Given the description of an element on the screen output the (x, y) to click on. 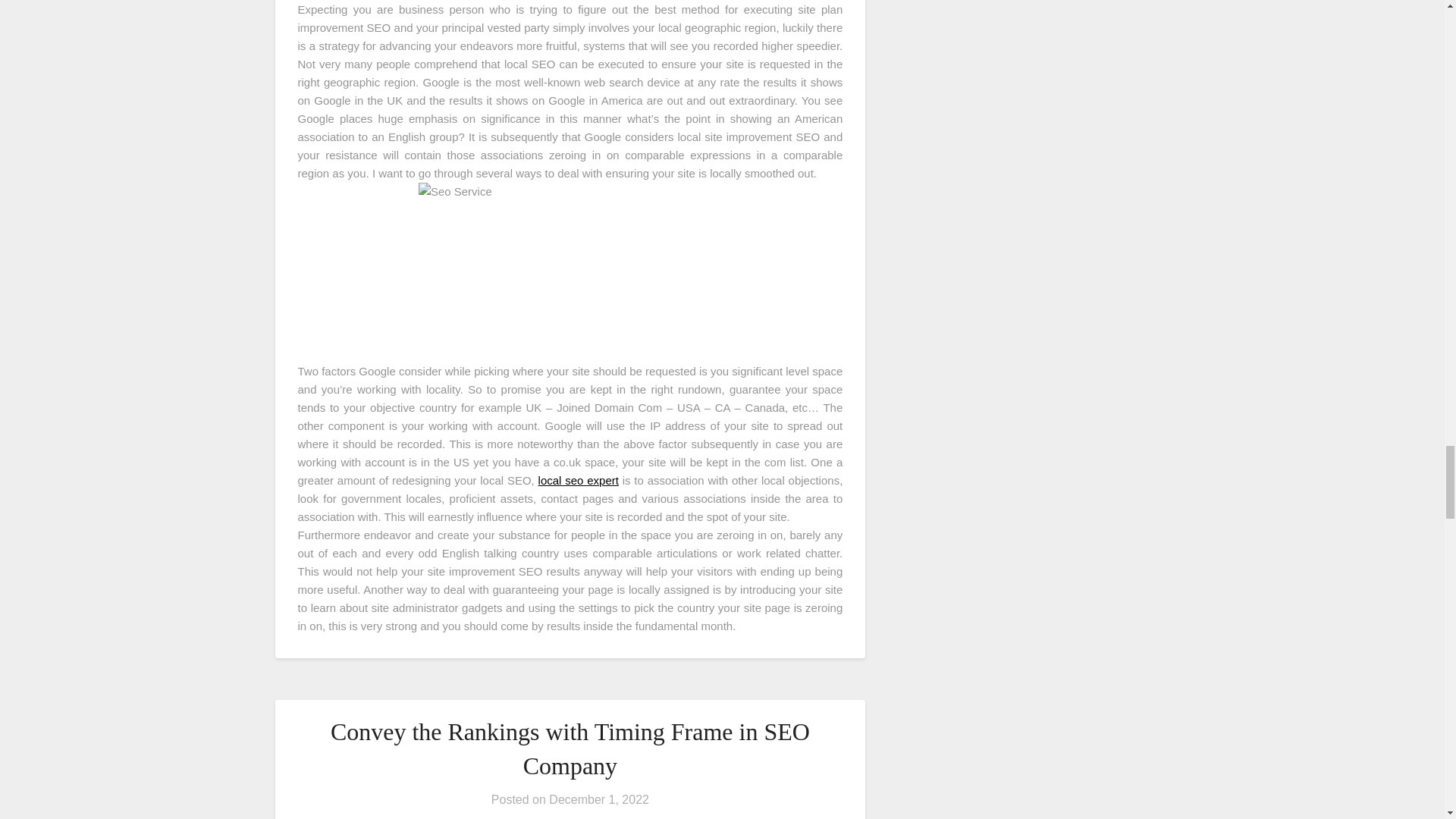
local seo expert (578, 480)
Convey the Rankings with Timing Frame in SEO Company (569, 748)
December 1, 2022 (598, 799)
